Given the description of an element on the screen output the (x, y) to click on. 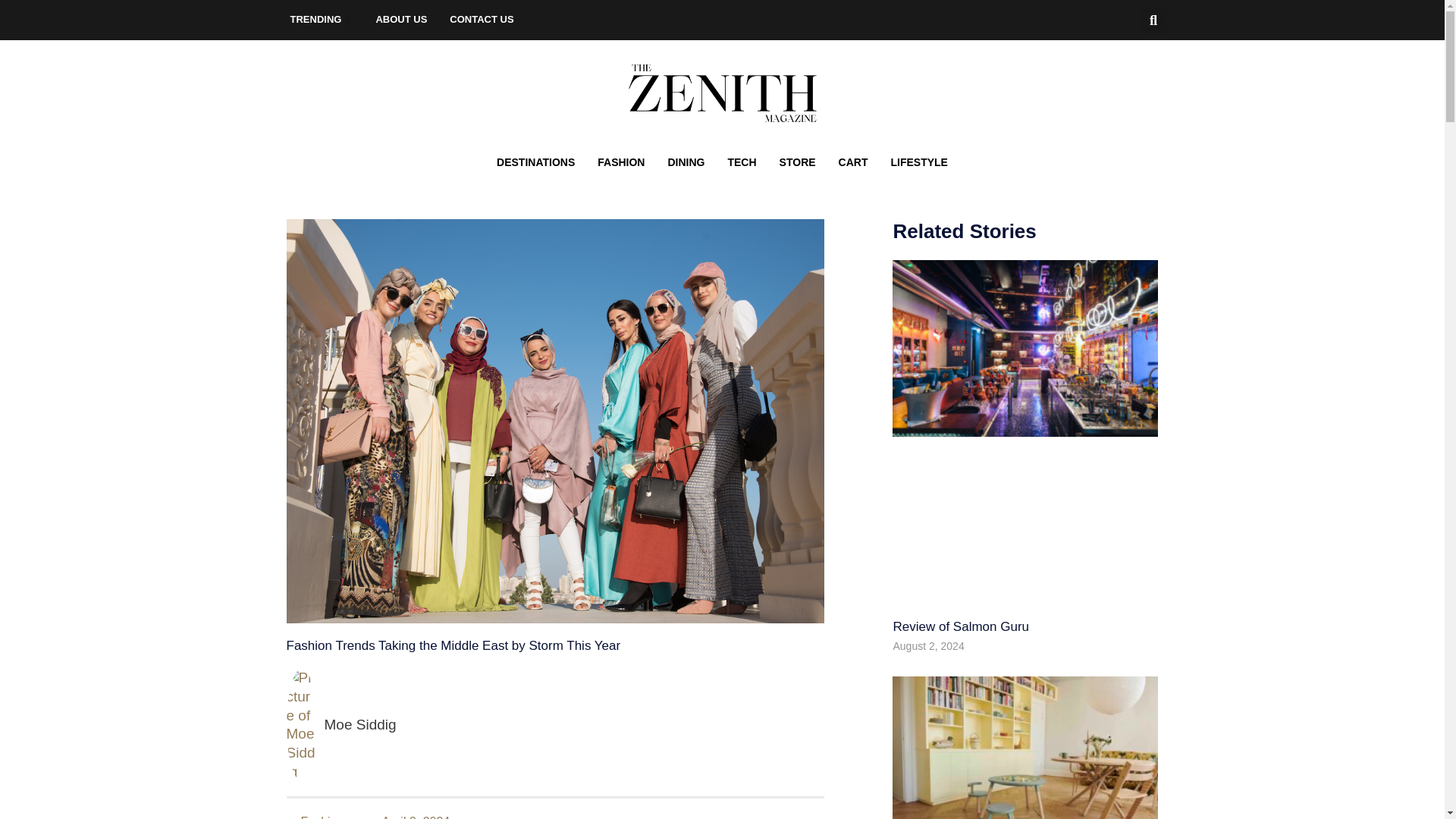
ABOUT US (401, 19)
STORE (797, 161)
TRENDING (322, 19)
CONTACT US (481, 19)
CART (853, 161)
TECH (741, 161)
LIFESTYLE (918, 161)
DESTINATIONS (535, 161)
FASHION (621, 161)
DINING (686, 161)
